Given the description of an element on the screen output the (x, y) to click on. 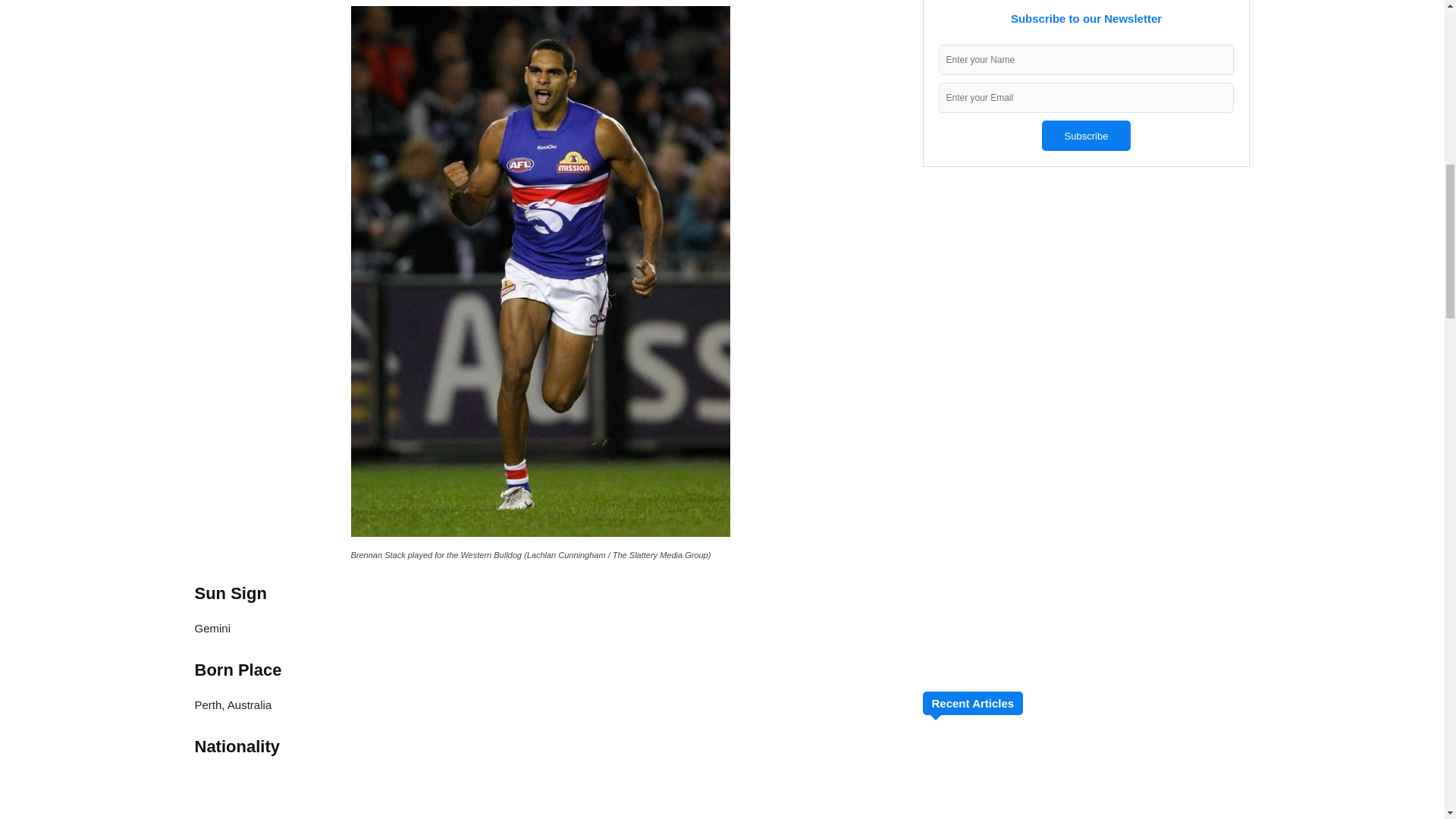
Subscribe (1086, 135)
